Given the description of an element on the screen output the (x, y) to click on. 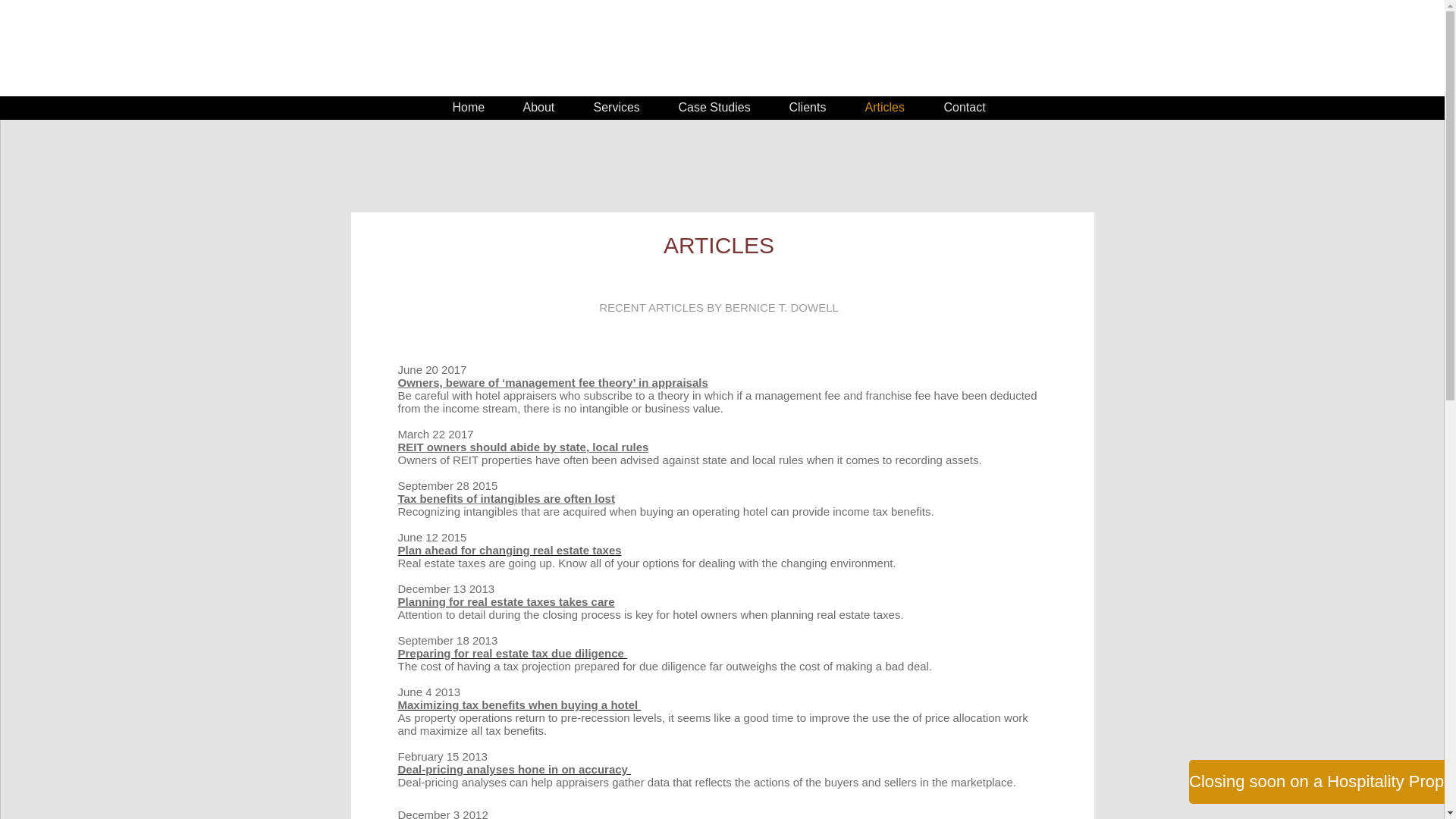
Clients (807, 107)
About (538, 107)
Services (617, 107)
Home (468, 107)
Case Studies (714, 107)
Maximizing tax benefits when buying a hotel  (518, 704)
Contact (965, 107)
Plan ahead for changing real estate taxes (509, 549)
Articles (884, 107)
REIT owners should abide by state, local rules (522, 446)
Planning for real estate taxes takes care (505, 601)
Preparing for real estate tax due diligence  (512, 653)
Deal-pricing analyses hone in on accuracy (512, 768)
Tax benefits of intangibles are often lost (505, 498)
